Given the description of an element on the screen output the (x, y) to click on. 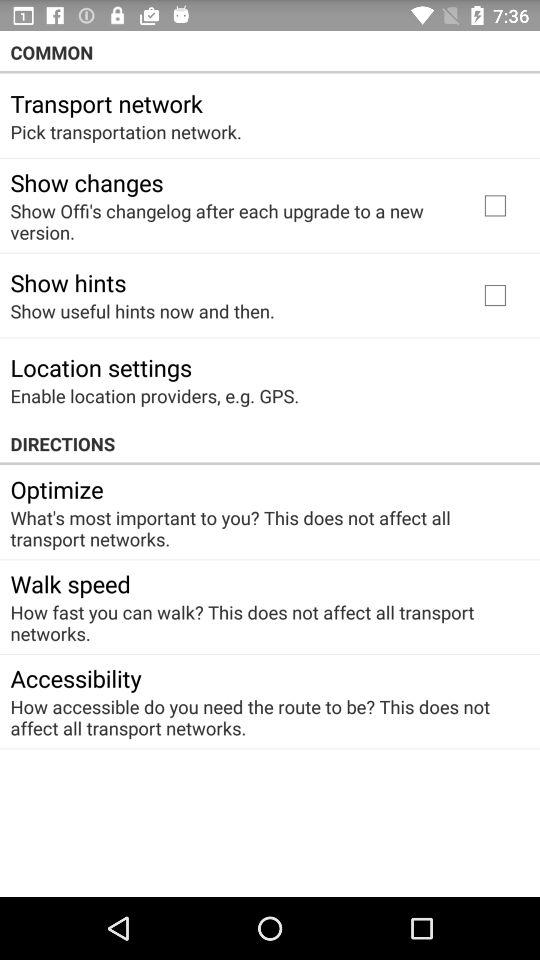
swipe until location settings item (101, 367)
